Given the description of an element on the screen output the (x, y) to click on. 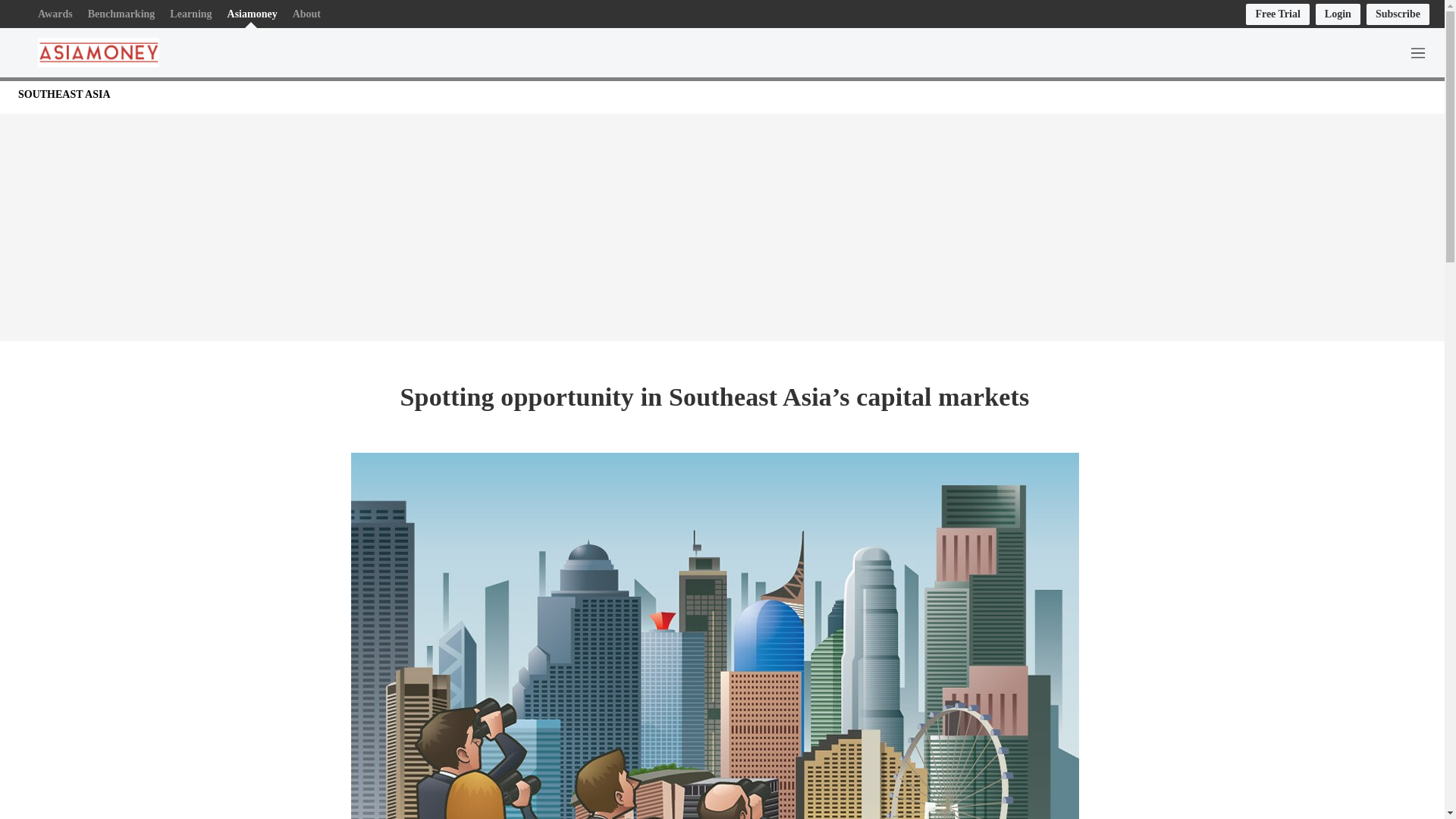
Login (1337, 13)
Asiamoney (252, 13)
About (306, 13)
Benchmarking (121, 13)
Awards (54, 13)
Subscribe (1398, 13)
Free Trial (1277, 13)
Learning (190, 13)
Menu (1421, 52)
